Given the description of an element on the screen output the (x, y) to click on. 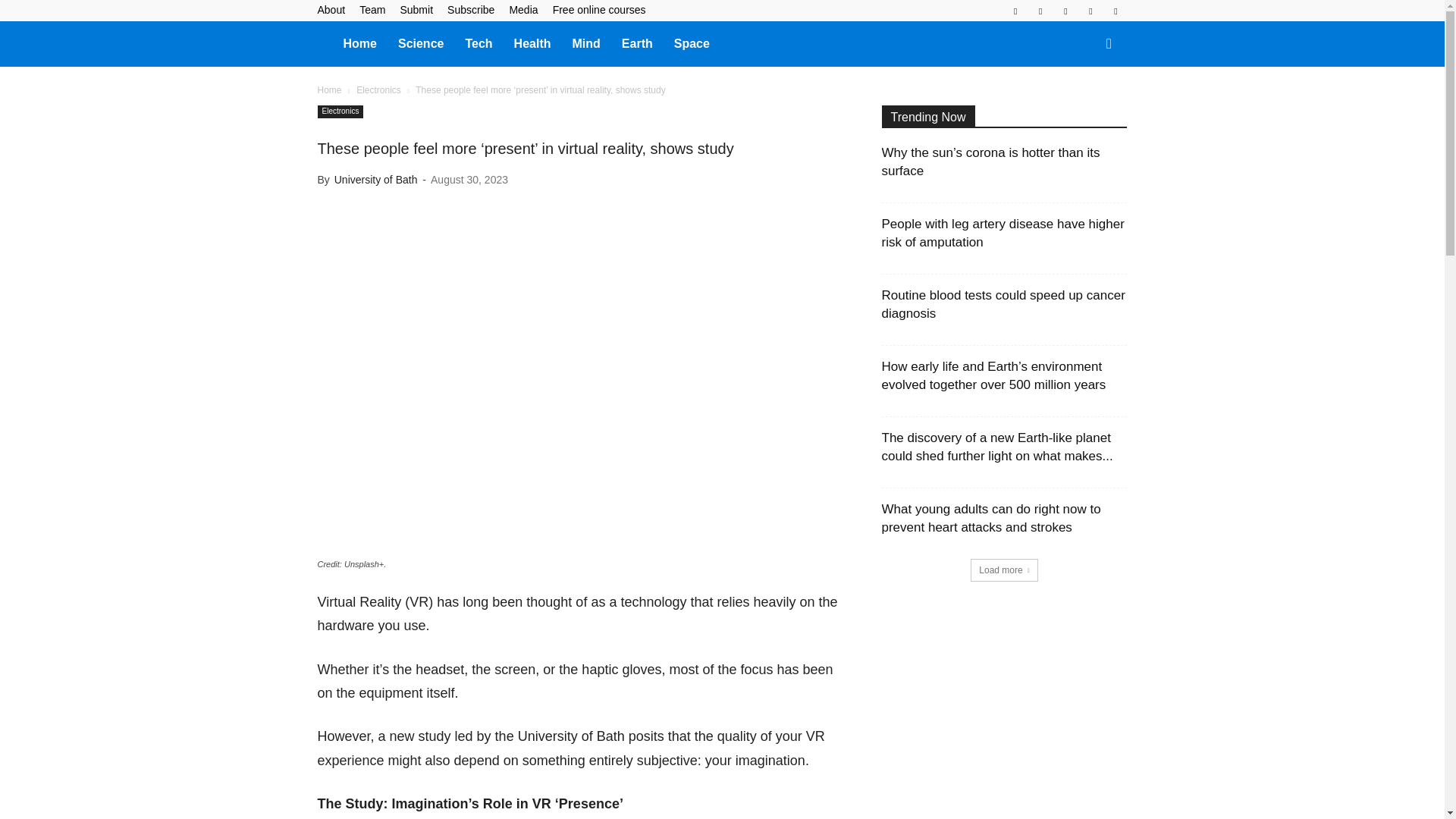
Twitter (1090, 10)
About (331, 9)
Facebook (1015, 10)
Linkedin (1040, 10)
Free online courses (599, 9)
Media (522, 9)
Submit (415, 9)
Knowridge Science Report (324, 42)
Website (1114, 10)
View all posts in Electronics (378, 90)
Subscribe (470, 9)
Team (372, 9)
RSS (1065, 10)
